Given the description of an element on the screen output the (x, y) to click on. 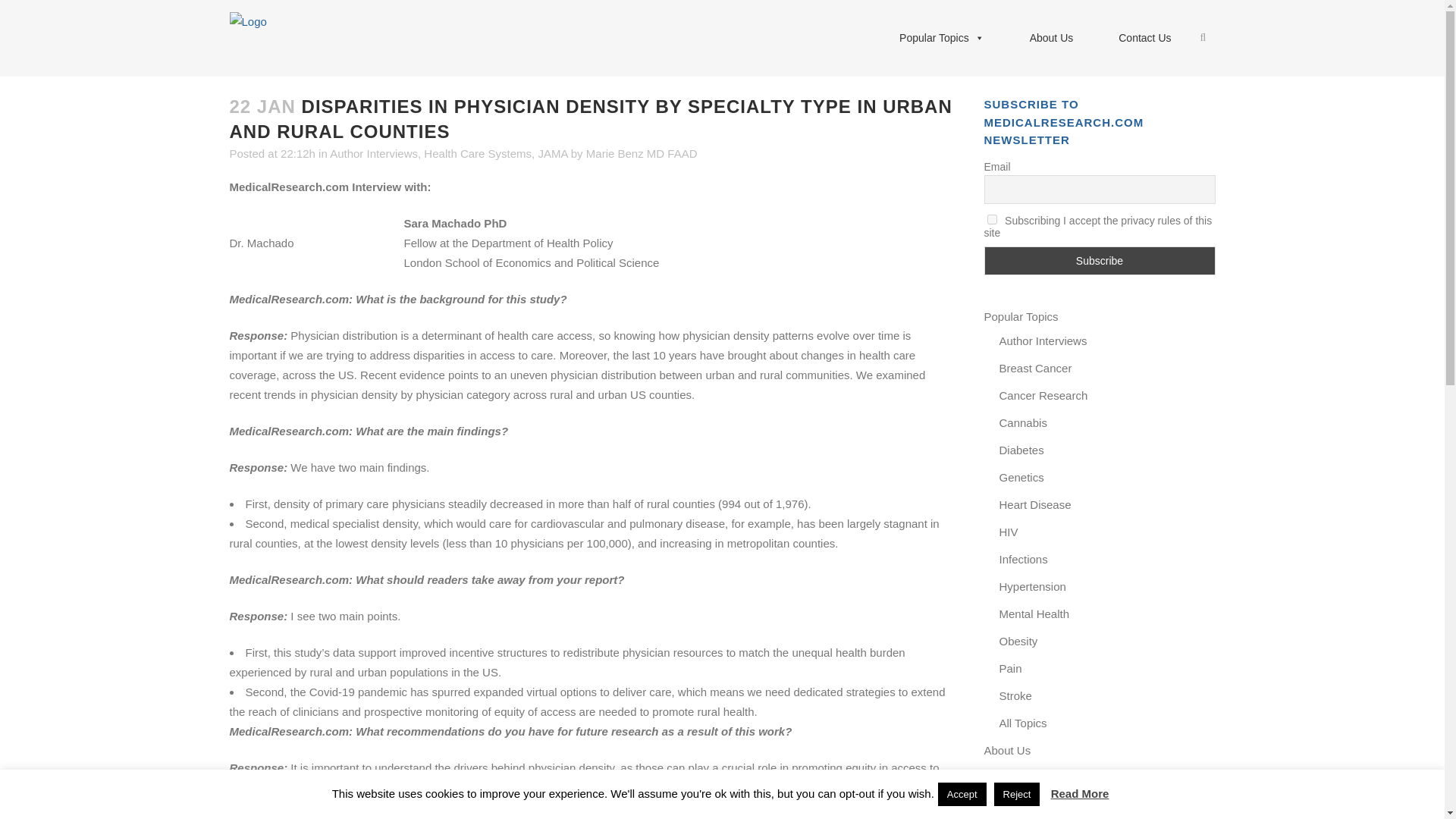
Subscribe (1099, 260)
on (992, 219)
About Us (1051, 37)
Popular Topics (941, 37)
Contact Us (1144, 37)
